Given the description of an element on the screen output the (x, y) to click on. 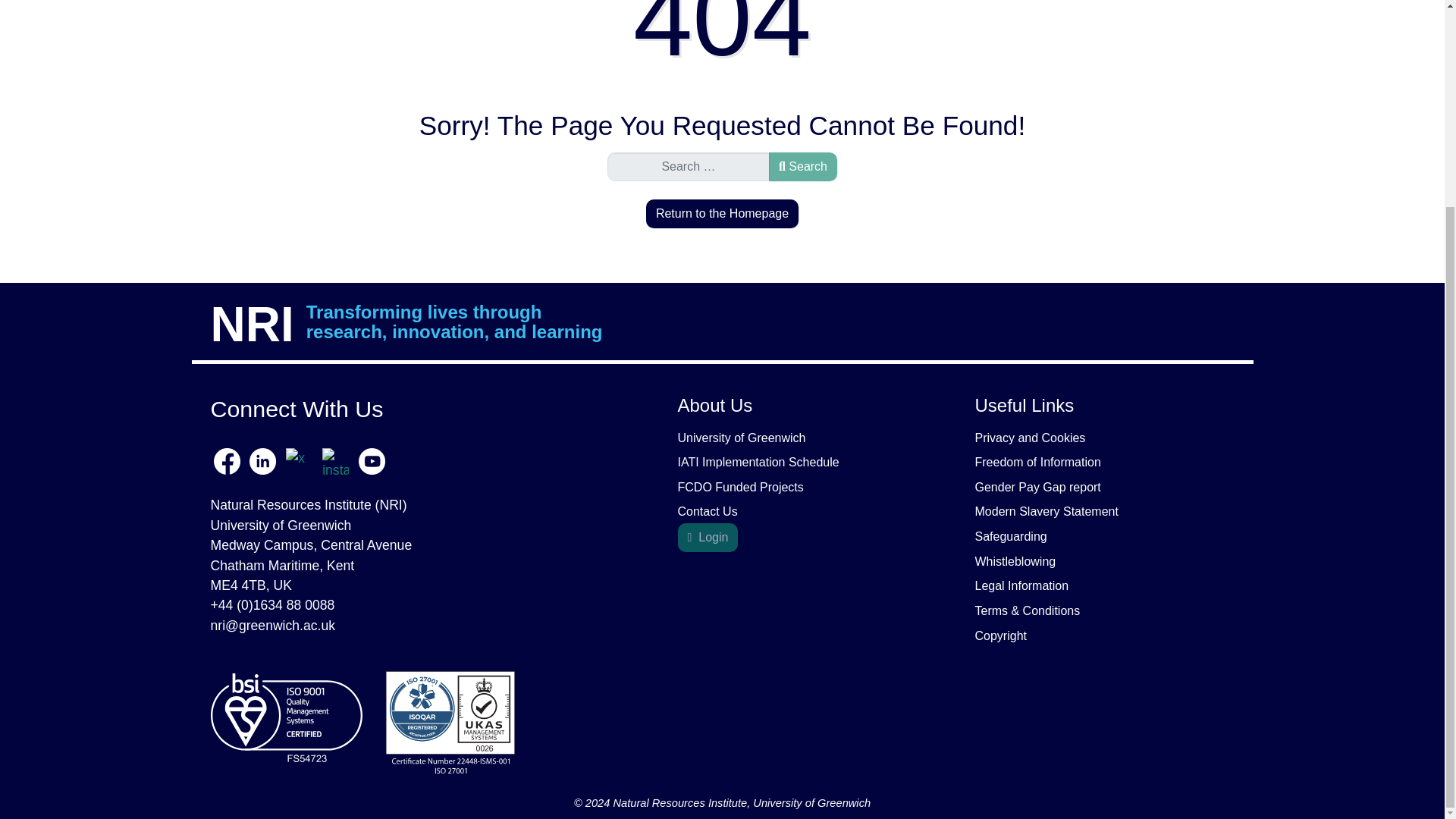
youtube (370, 459)
Facebook (229, 459)
Instagram (335, 459)
LinkedIn (262, 459)
X (300, 459)
